Given the description of an element on the screen output the (x, y) to click on. 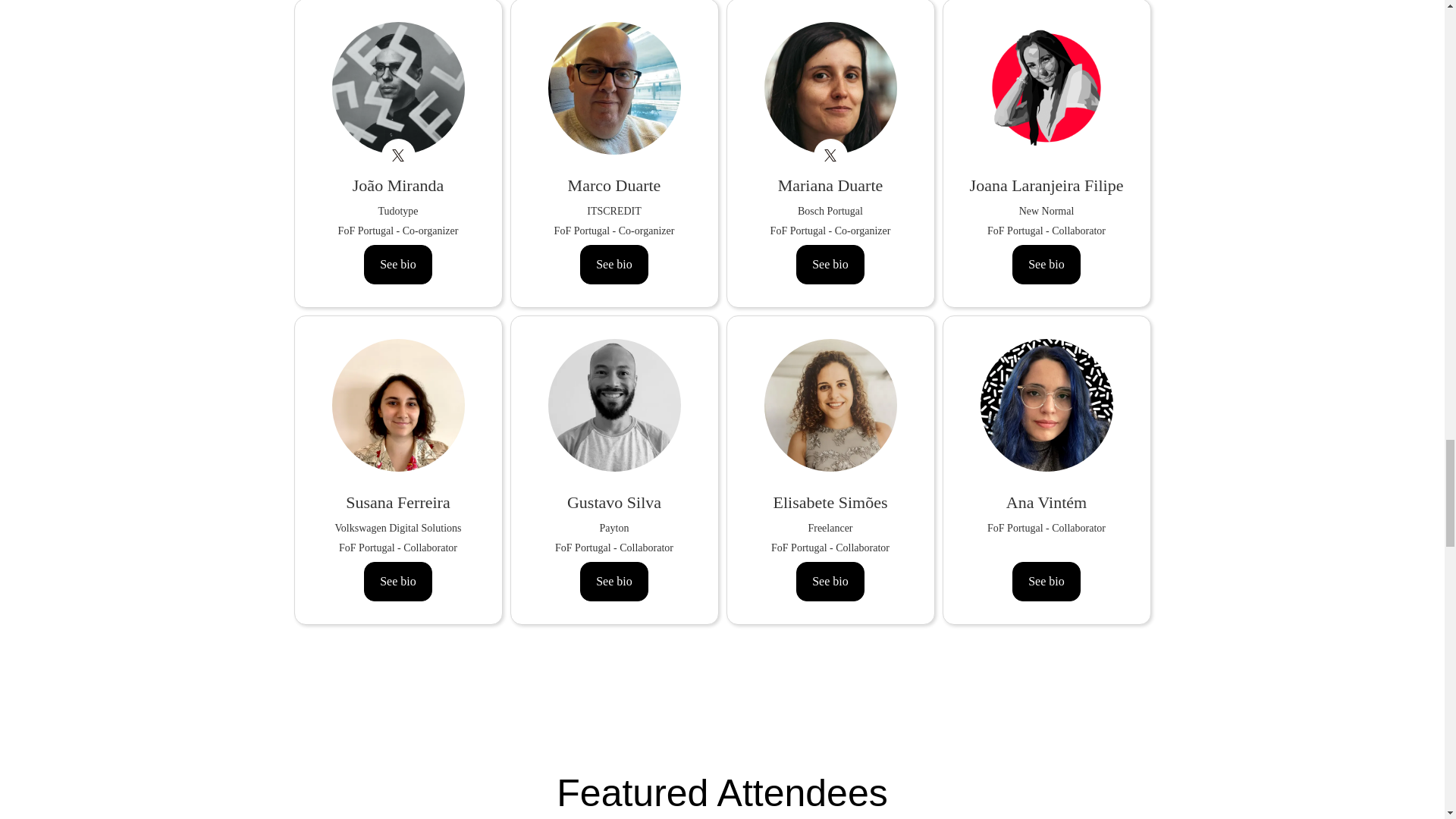
See bio (398, 581)
See bio (613, 581)
See bio (830, 264)
See bio (1045, 264)
See bio (613, 264)
See bio (1045, 581)
See bio (830, 581)
See bio (398, 264)
